Given the description of an element on the screen output the (x, y) to click on. 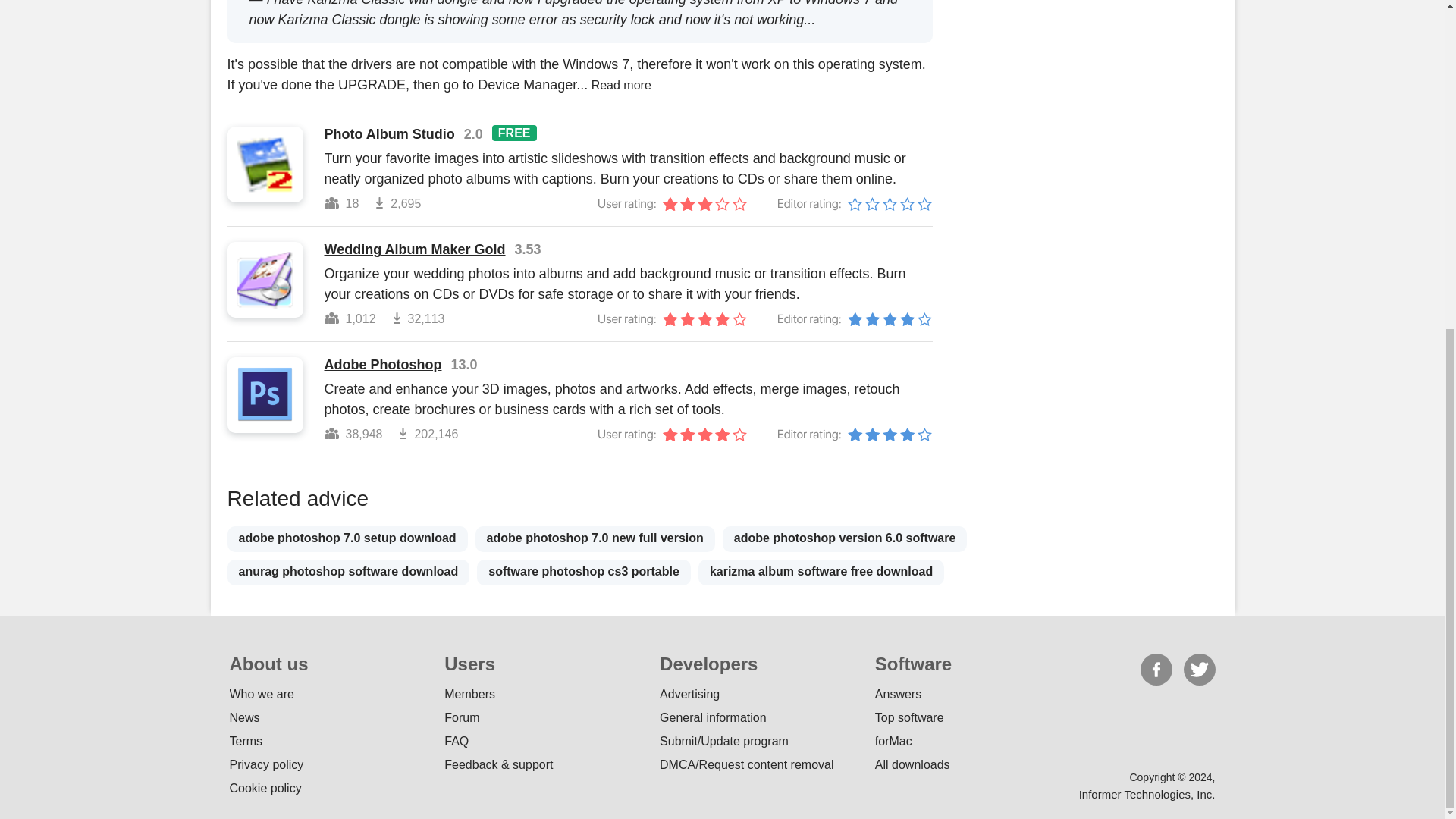
Wedding Album Maker Gold (414, 249)
Photo Album Studio (389, 134)
adobe photoshop 7.0 setup download (347, 539)
software photoshop cs3 portable (583, 572)
adobe photoshop 7.0 new full version (595, 539)
Adobe Photoshop (383, 365)
Adobe Photoshop (383, 365)
Privacy policy (265, 764)
Cookie policy (264, 788)
Who we are (261, 694)
